Given the description of an element on the screen output the (x, y) to click on. 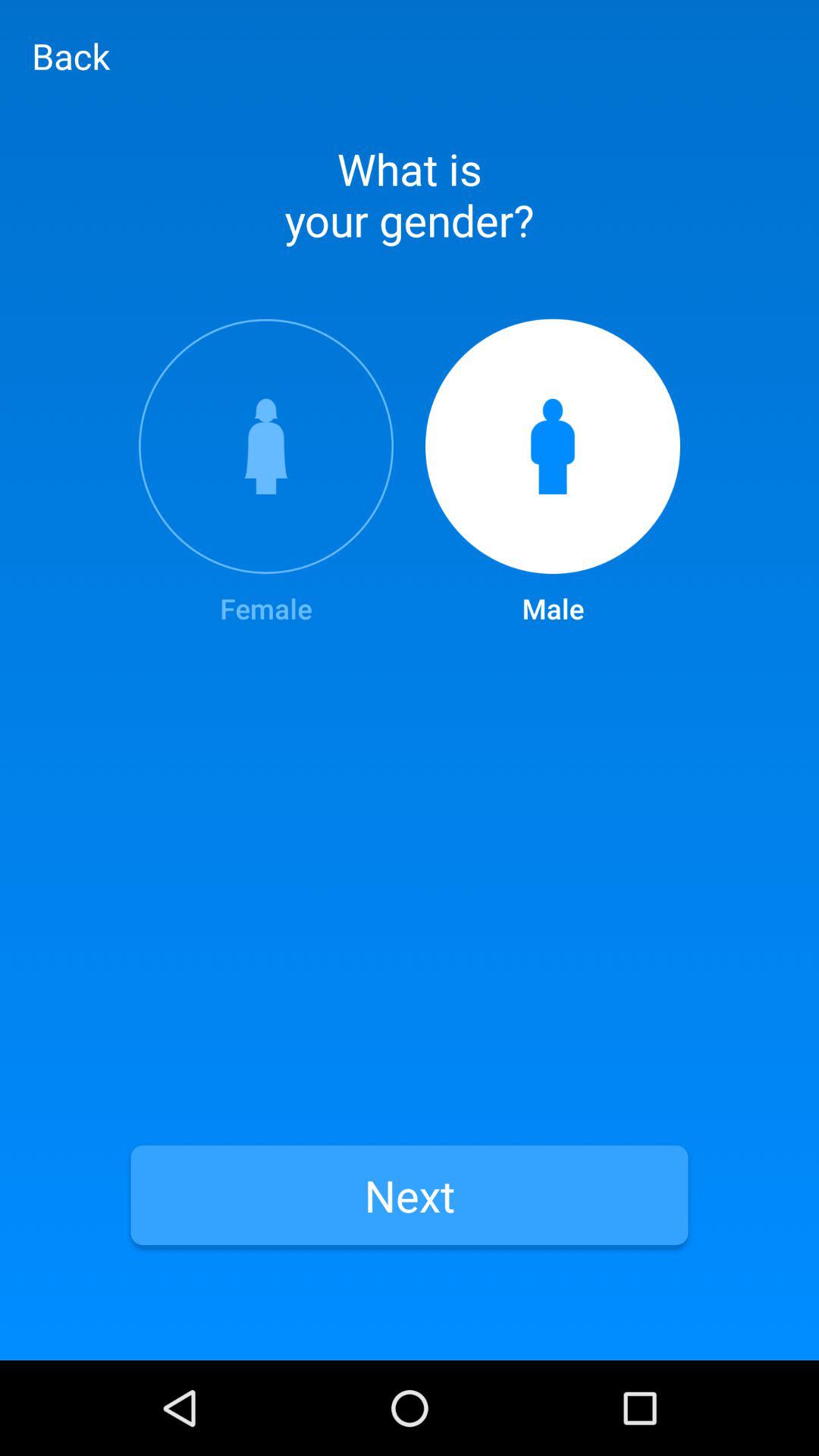
choose the item below the female (409, 1194)
